Given the description of an element on the screen output the (x, y) to click on. 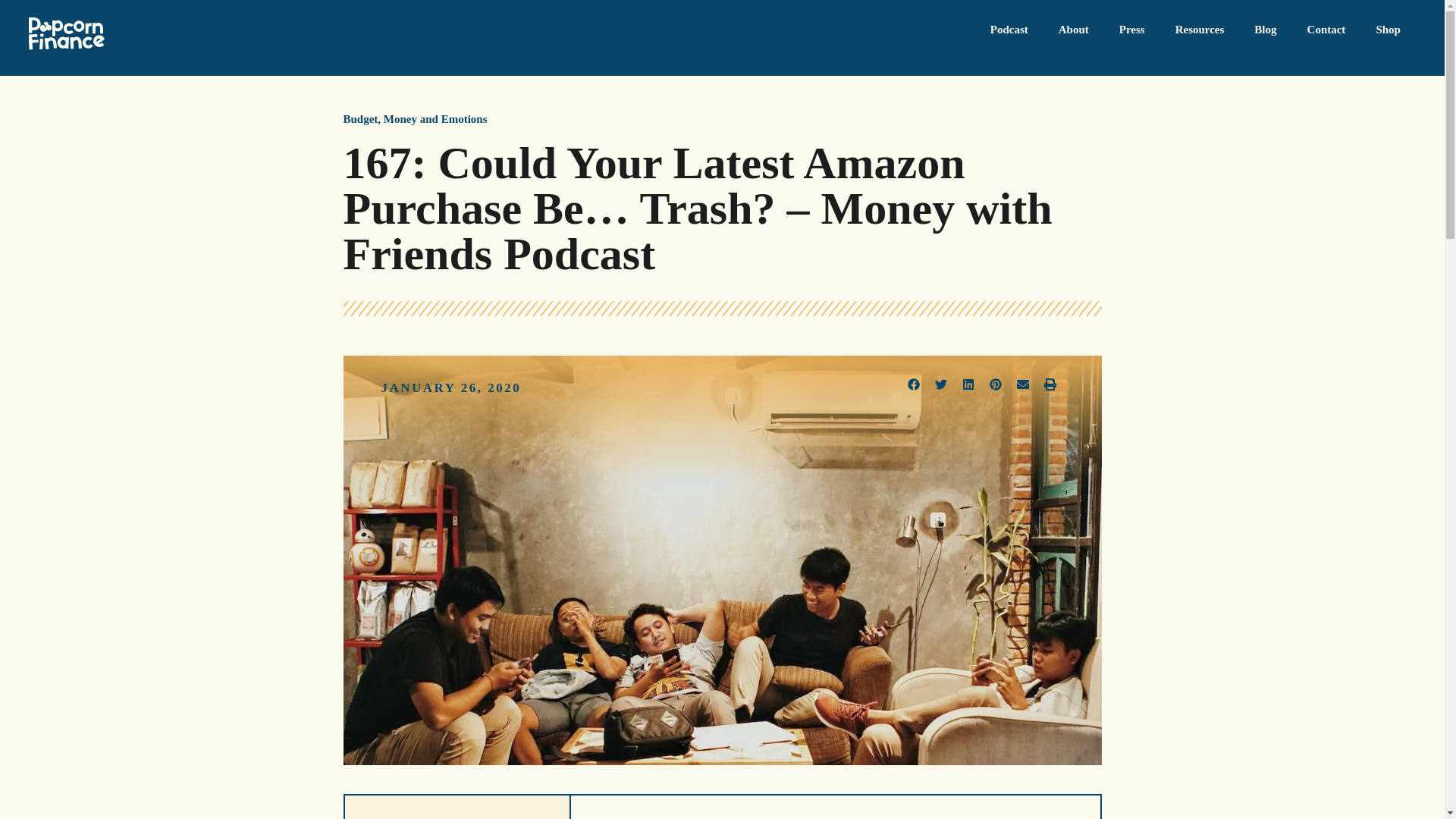
About (1073, 29)
JANUARY 26, 2020 (450, 388)
Contact (1326, 29)
Podcast (1009, 29)
Money and Emotions (435, 119)
Shop (1387, 29)
Blog (1265, 29)
Budget (359, 119)
Resources (1200, 29)
Press (1131, 29)
